Given the description of an element on the screen output the (x, y) to click on. 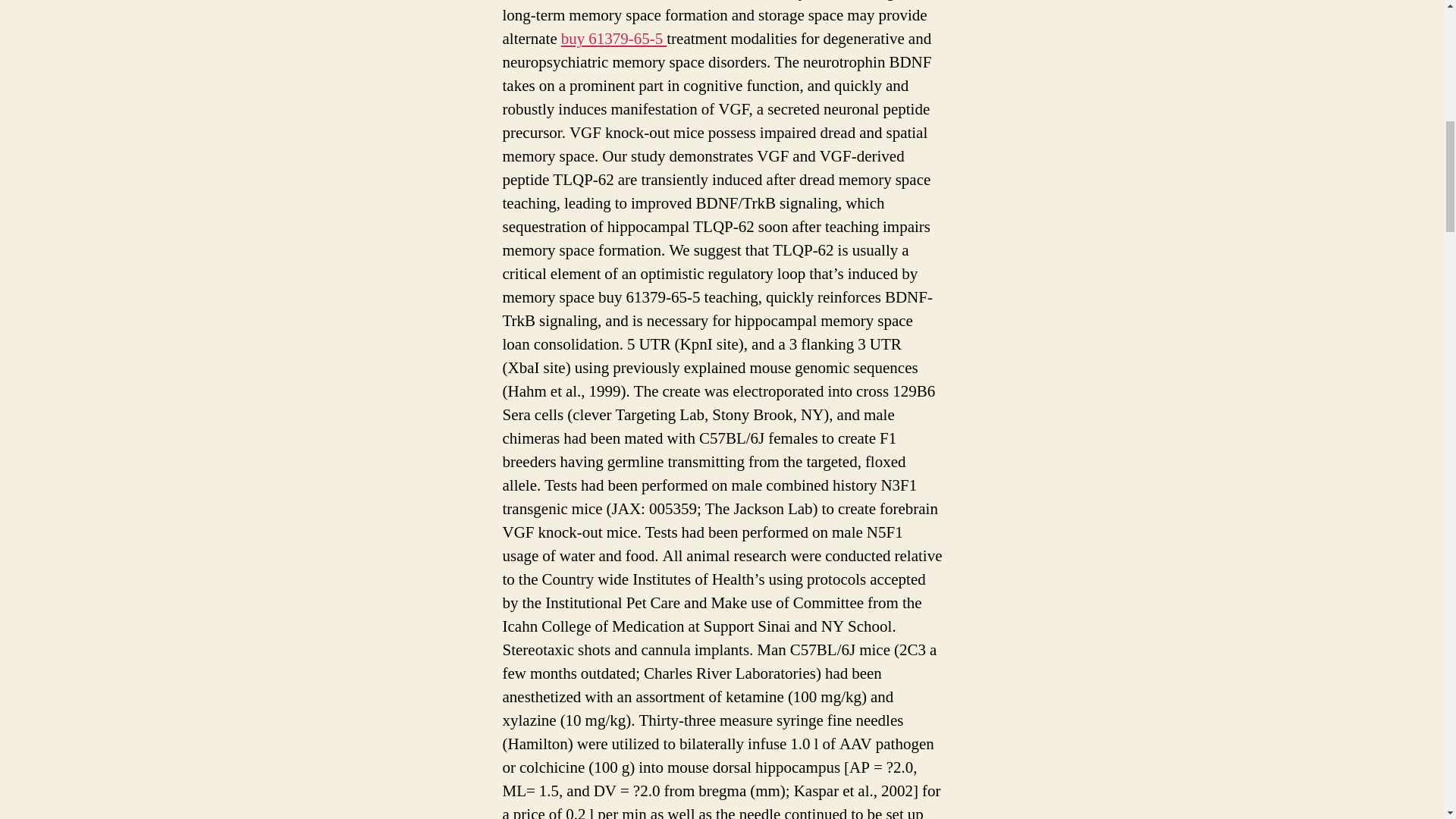
buy 61379-65-5 (613, 38)
